Given the description of an element on the screen output the (x, y) to click on. 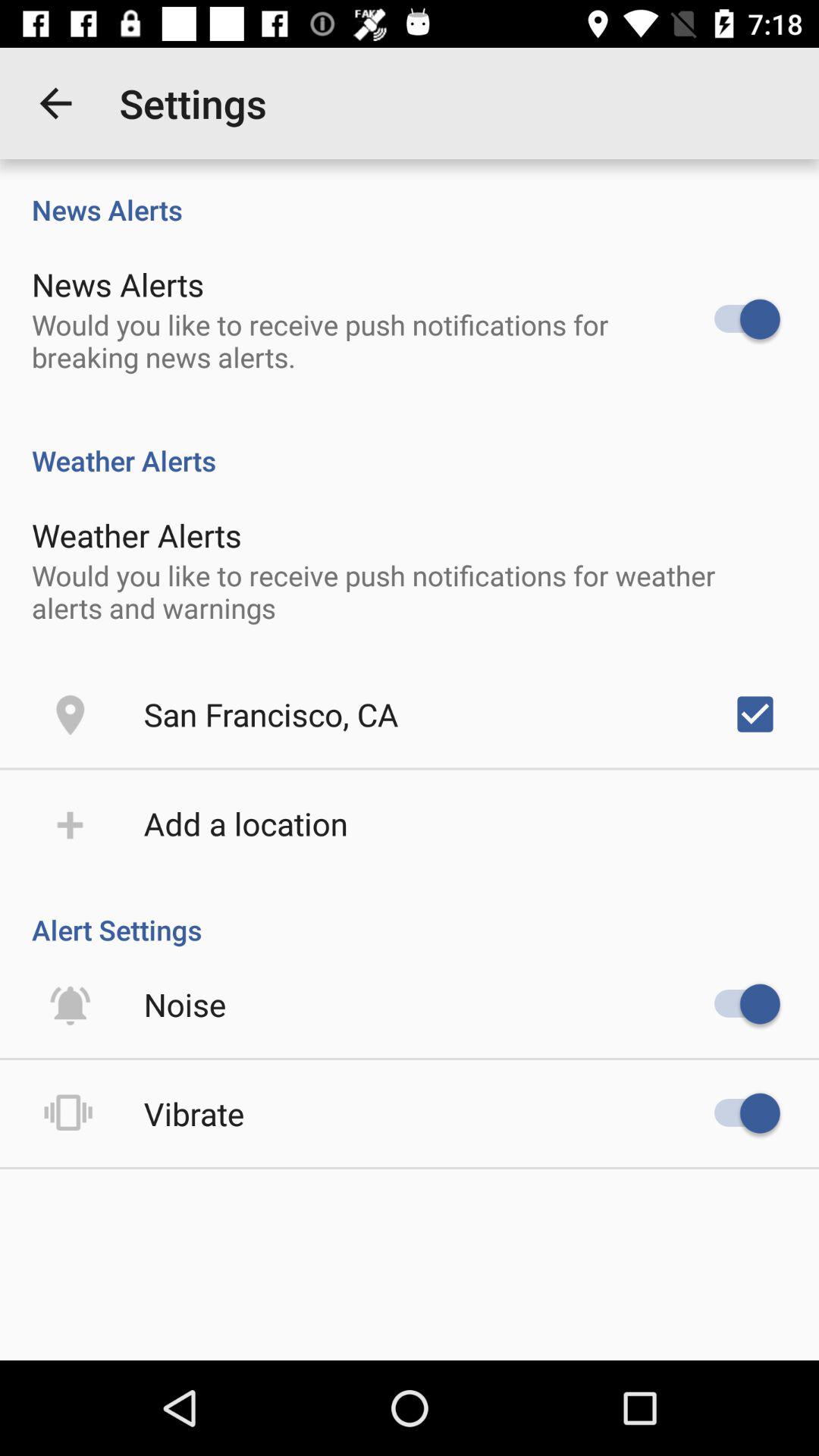
tap the item above add a location icon (270, 713)
